Given the description of an element on the screen output the (x, y) to click on. 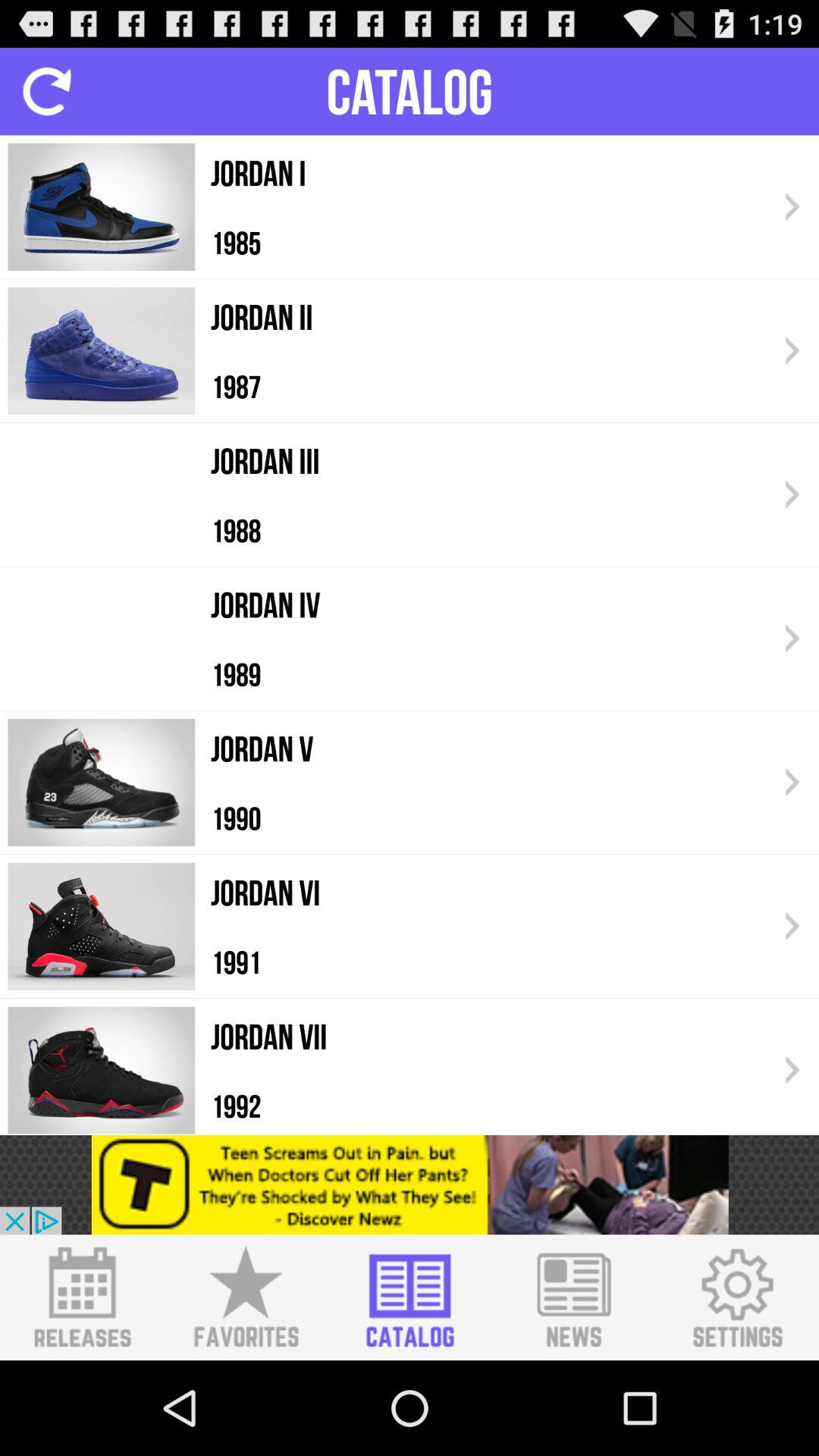
switch new releases (81, 1297)
